Given the description of an element on the screen output the (x, y) to click on. 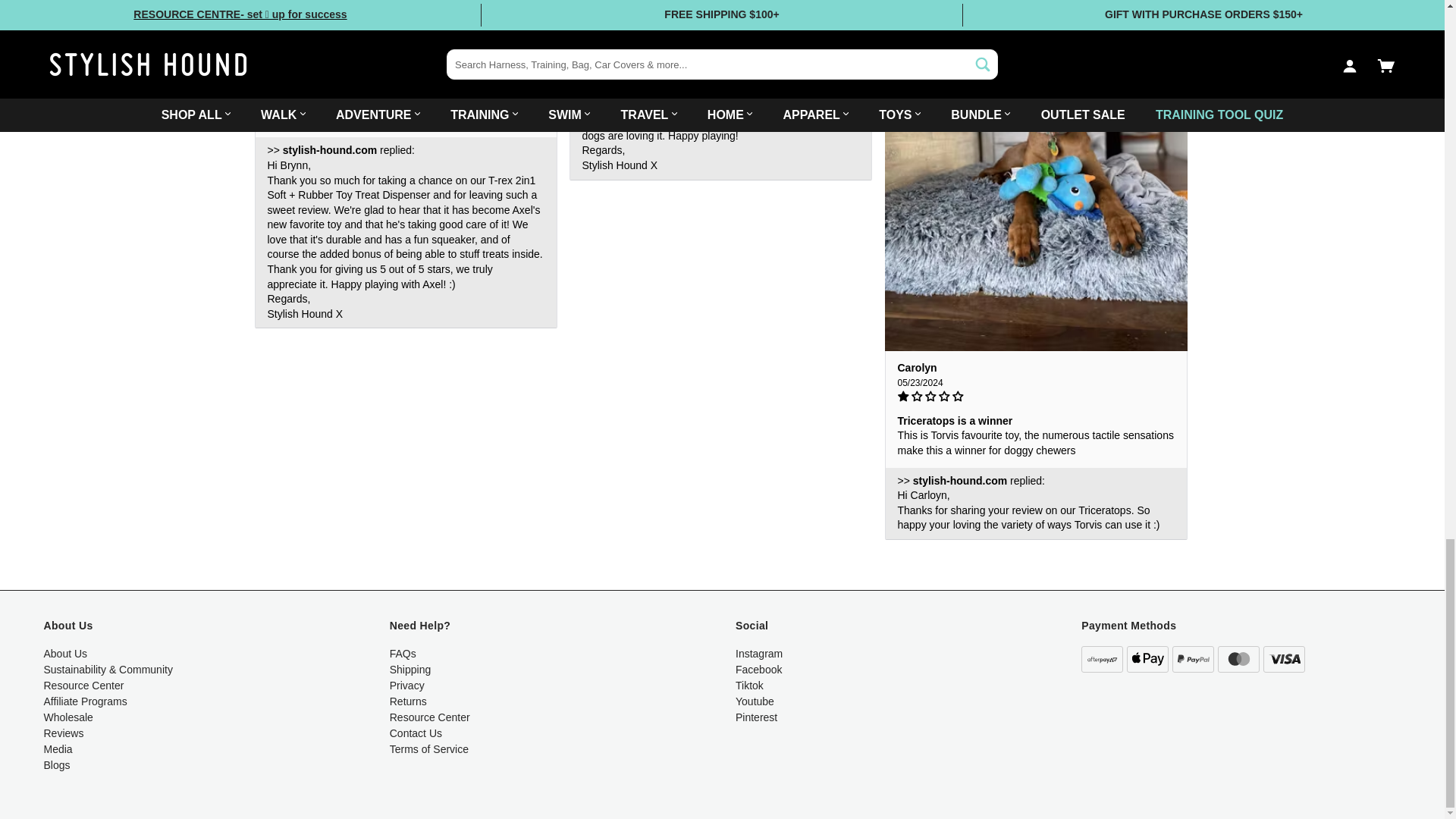
Resource Center (83, 685)
Contact Us (416, 733)
Returns (408, 701)
Wholesale (68, 717)
Shipping (410, 669)
Resource Center (430, 717)
Blogs (56, 765)
About Us (65, 653)
Affiliate Programs (85, 701)
Terms of Service (429, 748)
Privacy (407, 685)
Reviews (63, 733)
FAQs (403, 653)
Media (57, 748)
